Given the description of an element on the screen output the (x, y) to click on. 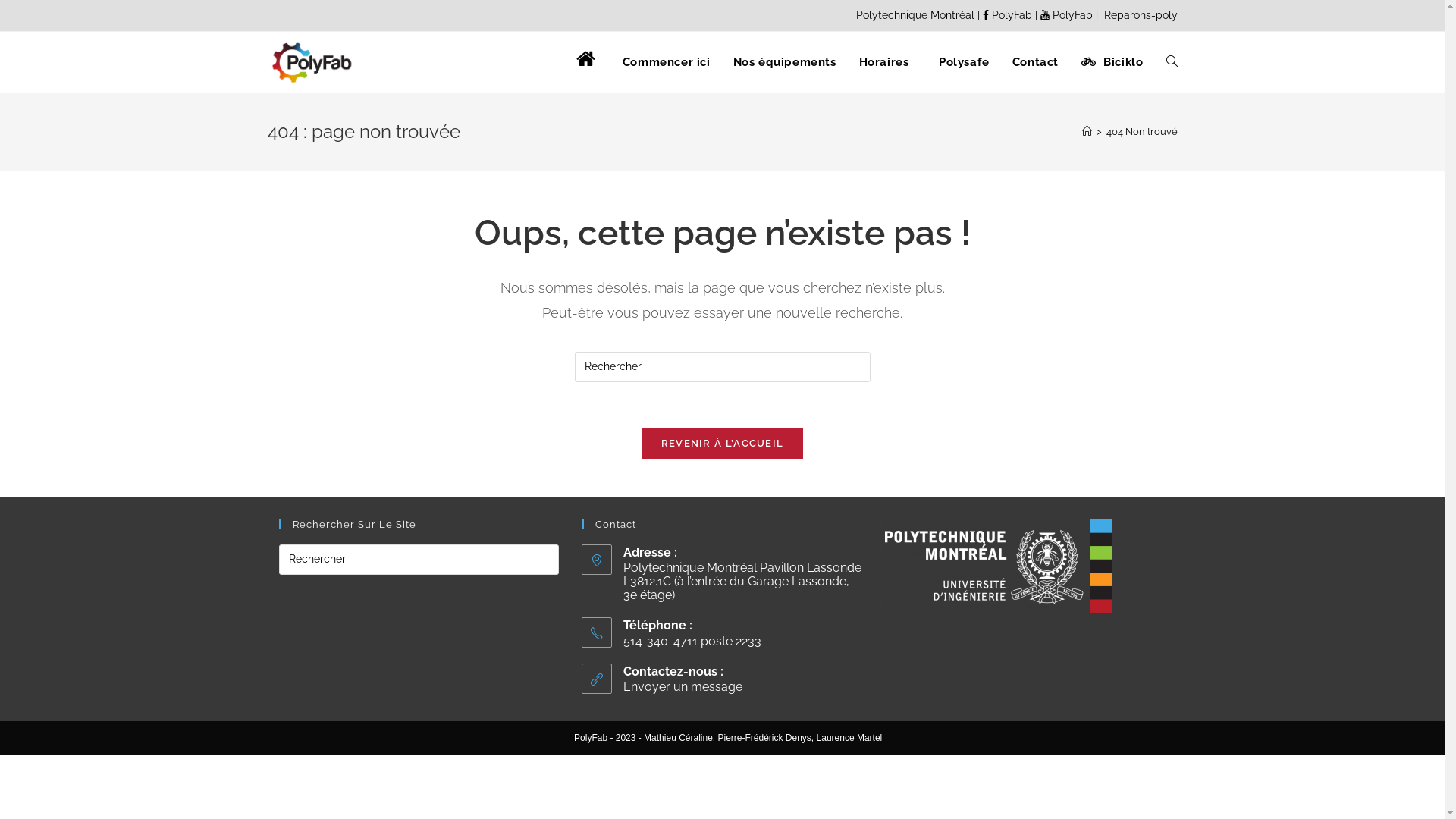
Reparons-poly Element type: text (1139, 15)
PolyFab Element type: text (1008, 15)
PolyFab Element type: text (1067, 15)
Toggle website search Element type: text (1171, 61)
Envoyer un message Element type: text (682, 686)
Commencer ici Element type: text (666, 61)
Contact Element type: text (1035, 61)
Horaires Element type: text (883, 61)
Biciklo Element type: text (1112, 61)
Polysafe Element type: text (959, 61)
